Given the description of an element on the screen output the (x, y) to click on. 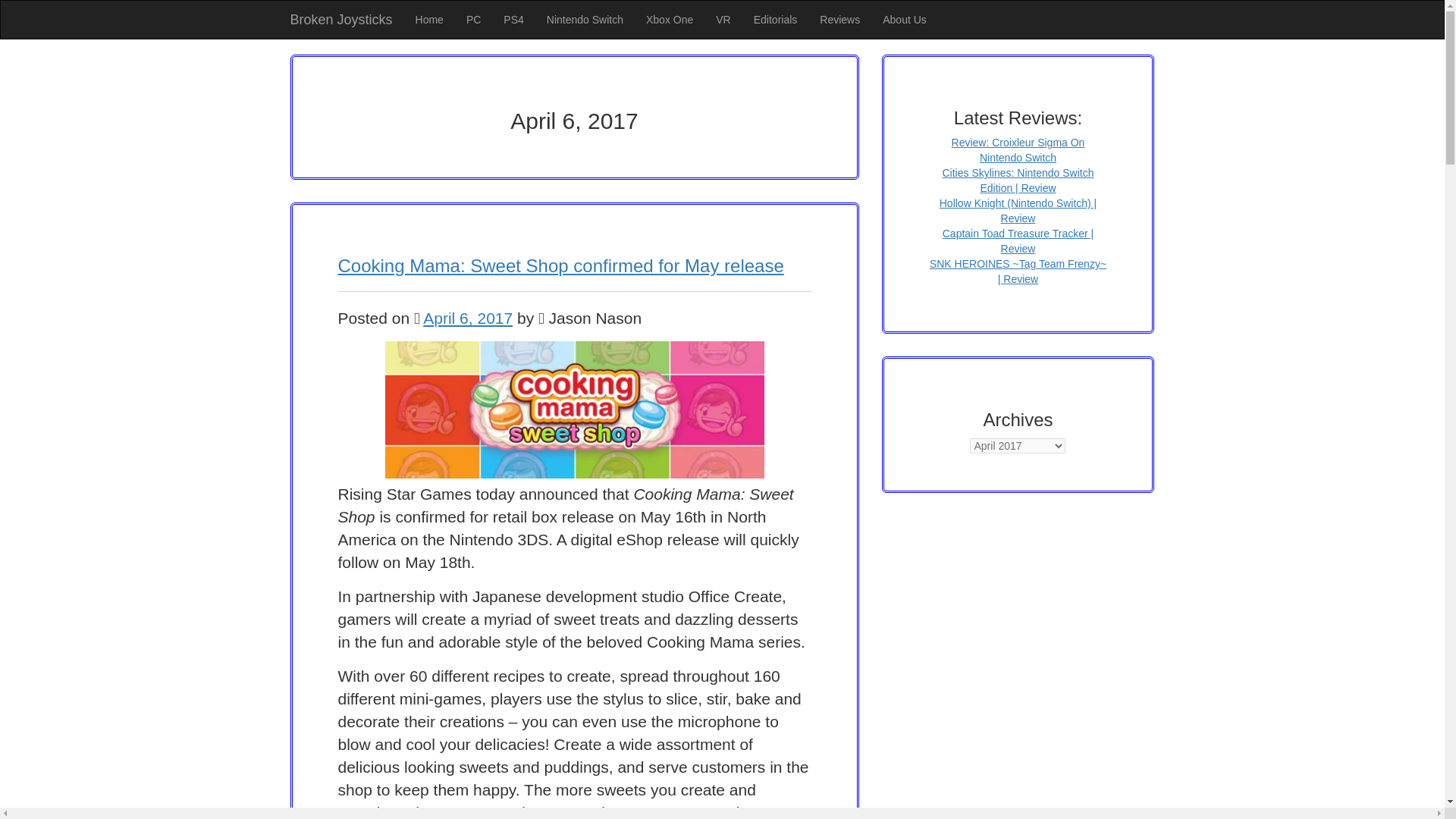
Editorials (775, 19)
PC (473, 19)
Reviews (839, 19)
Xbox One (669, 19)
Home (429, 19)
PC (473, 19)
About Us (903, 19)
PS4 (513, 19)
PS4 (513, 19)
VR (722, 19)
Editorials (775, 19)
Reviews (839, 19)
About Us (903, 19)
VR (722, 19)
April 6, 2017 (467, 317)
